Given the description of an element on the screen output the (x, y) to click on. 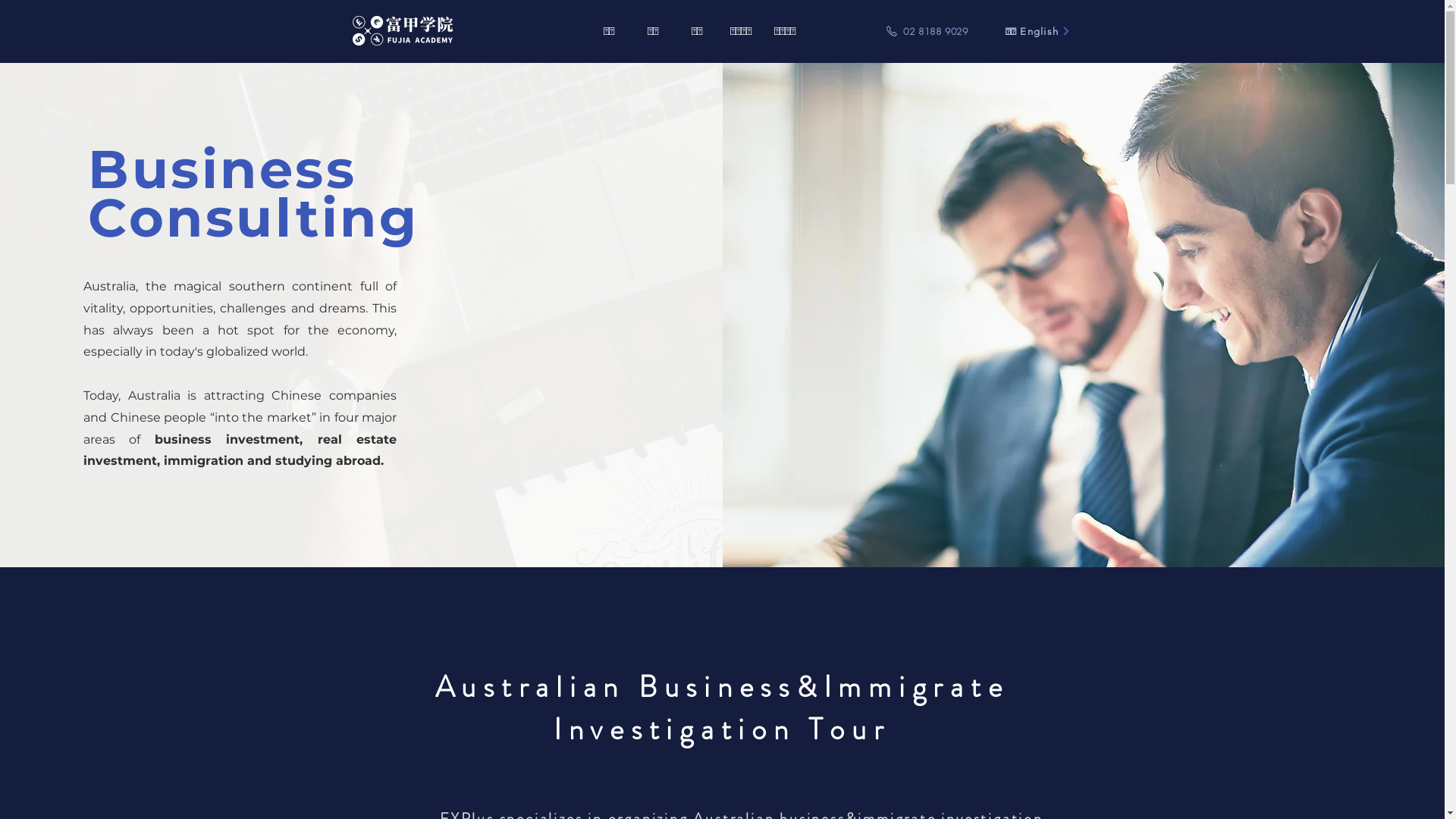
02 8188 9029 Element type: text (926, 31)
1.png Element type: hover (402, 32)
